Given the description of an element on the screen output the (x, y) to click on. 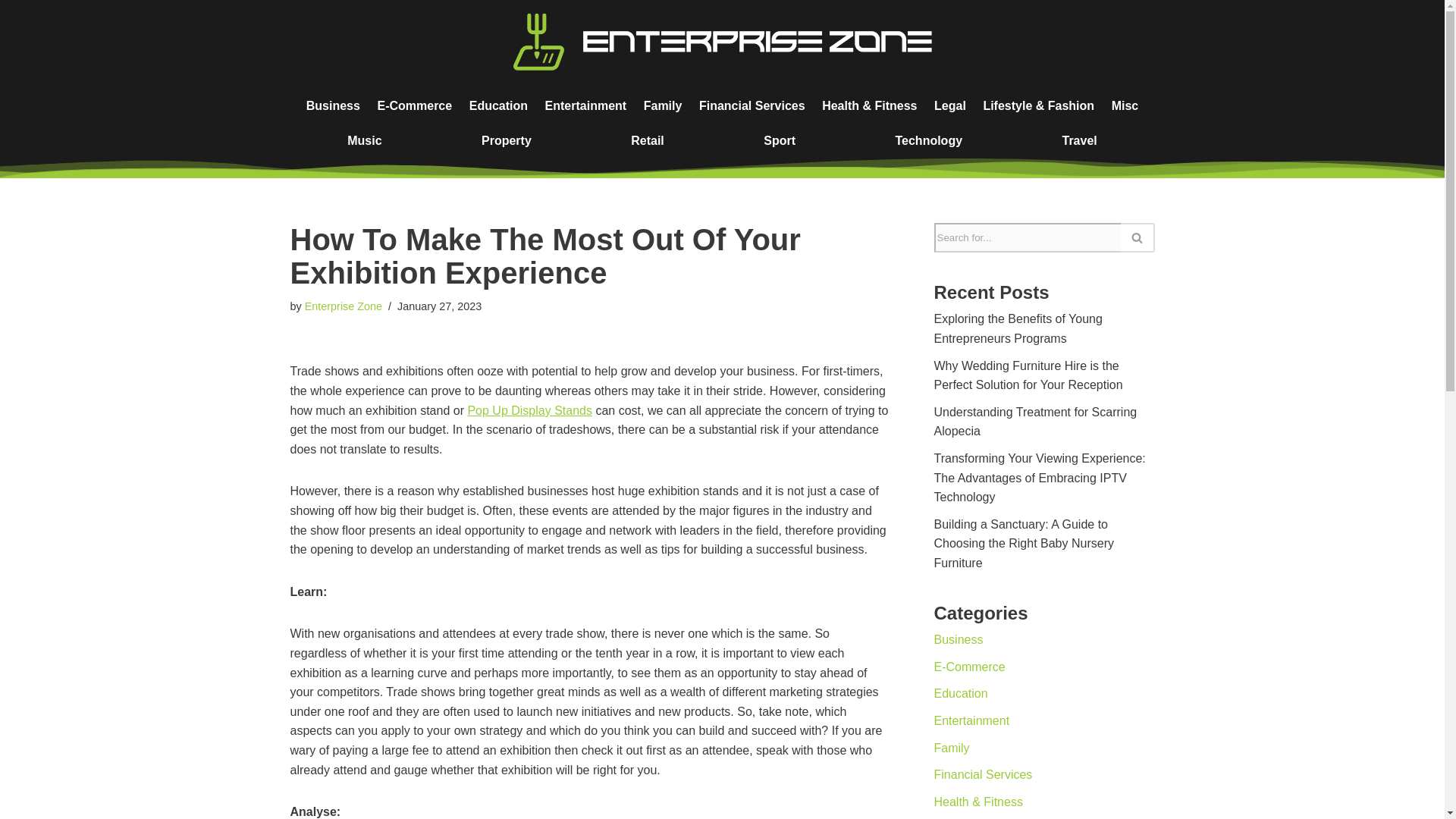
Retail (647, 140)
E-Commerce (414, 105)
Education (497, 105)
Financial Services (751, 105)
Exploring the Benefits of Young Entrepreneurs Programs (1018, 328)
Business (332, 105)
Enterprise Zone (342, 306)
Legal (950, 105)
Family (662, 105)
Sport (779, 140)
Pop Up Display Stands (529, 410)
Skip to content (11, 31)
Posts by Enterprise Zone (342, 306)
Entertainment (584, 105)
